Given the description of an element on the screen output the (x, y) to click on. 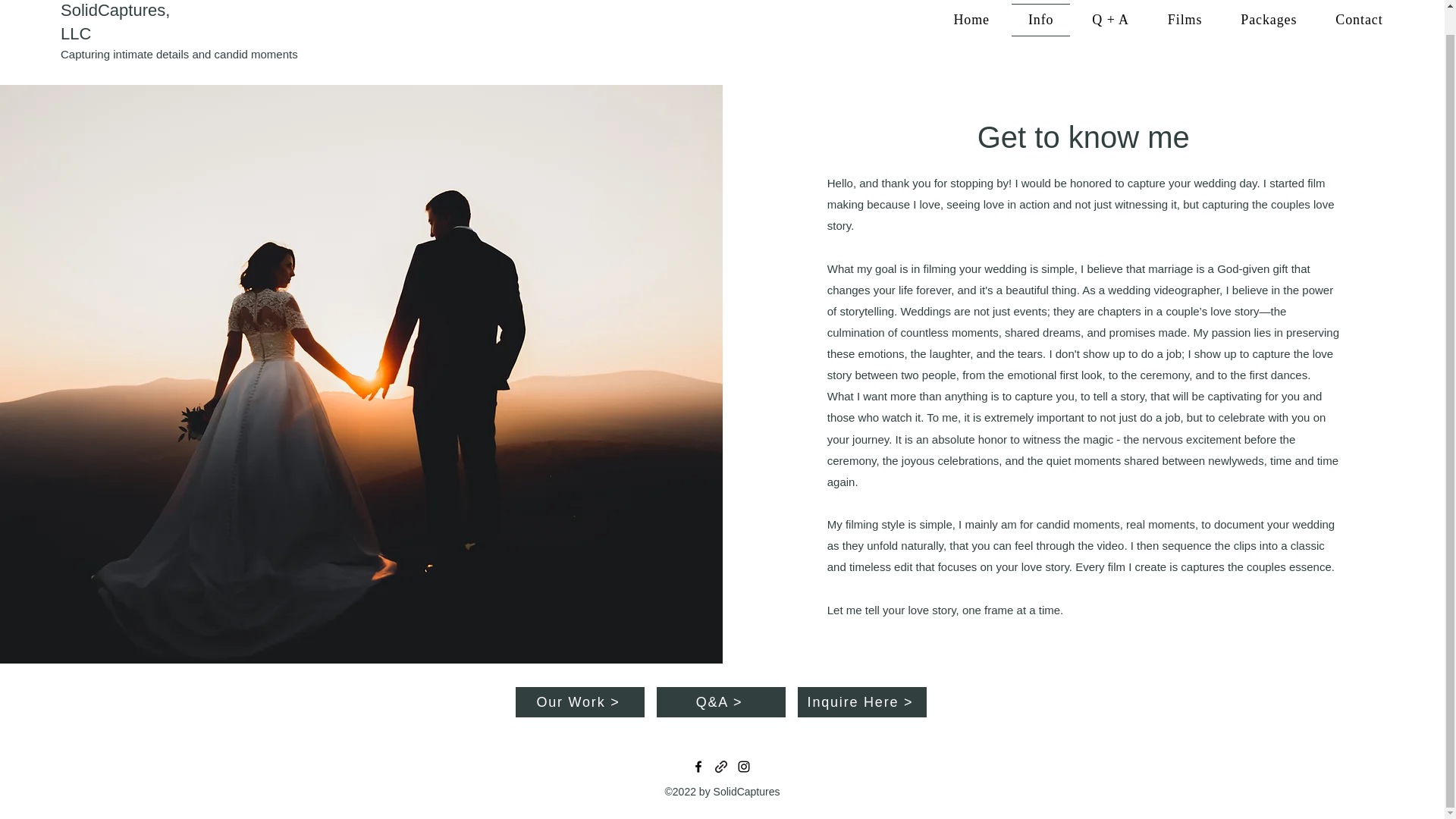
Films (921, 39)
Home (783, 39)
Contact (990, 39)
Info (851, 39)
Films (1184, 20)
Packages (1268, 20)
Home (971, 20)
Contact (1359, 20)
Info (1039, 20)
